Given the description of an element on the screen output the (x, y) to click on. 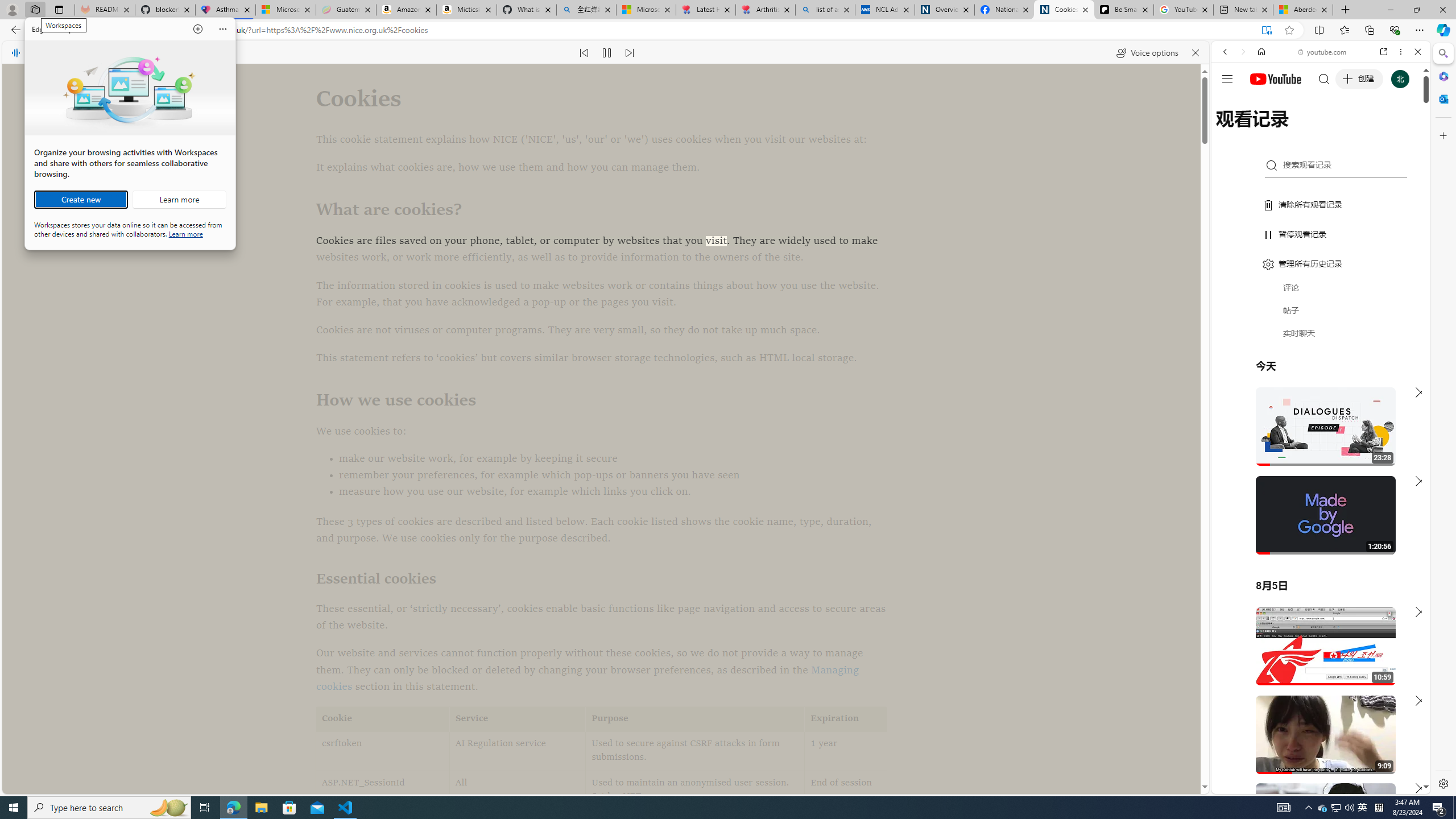
Learn more about Workspaces privacy (185, 233)
Cookie (382, 718)
SEARCH TOOLS (1350, 130)
US[ju] (1249, 785)
Search Filter, VIDEOS (1300, 129)
All (517, 790)
Google (1320, 281)
